Given the description of an element on the screen output the (x, y) to click on. 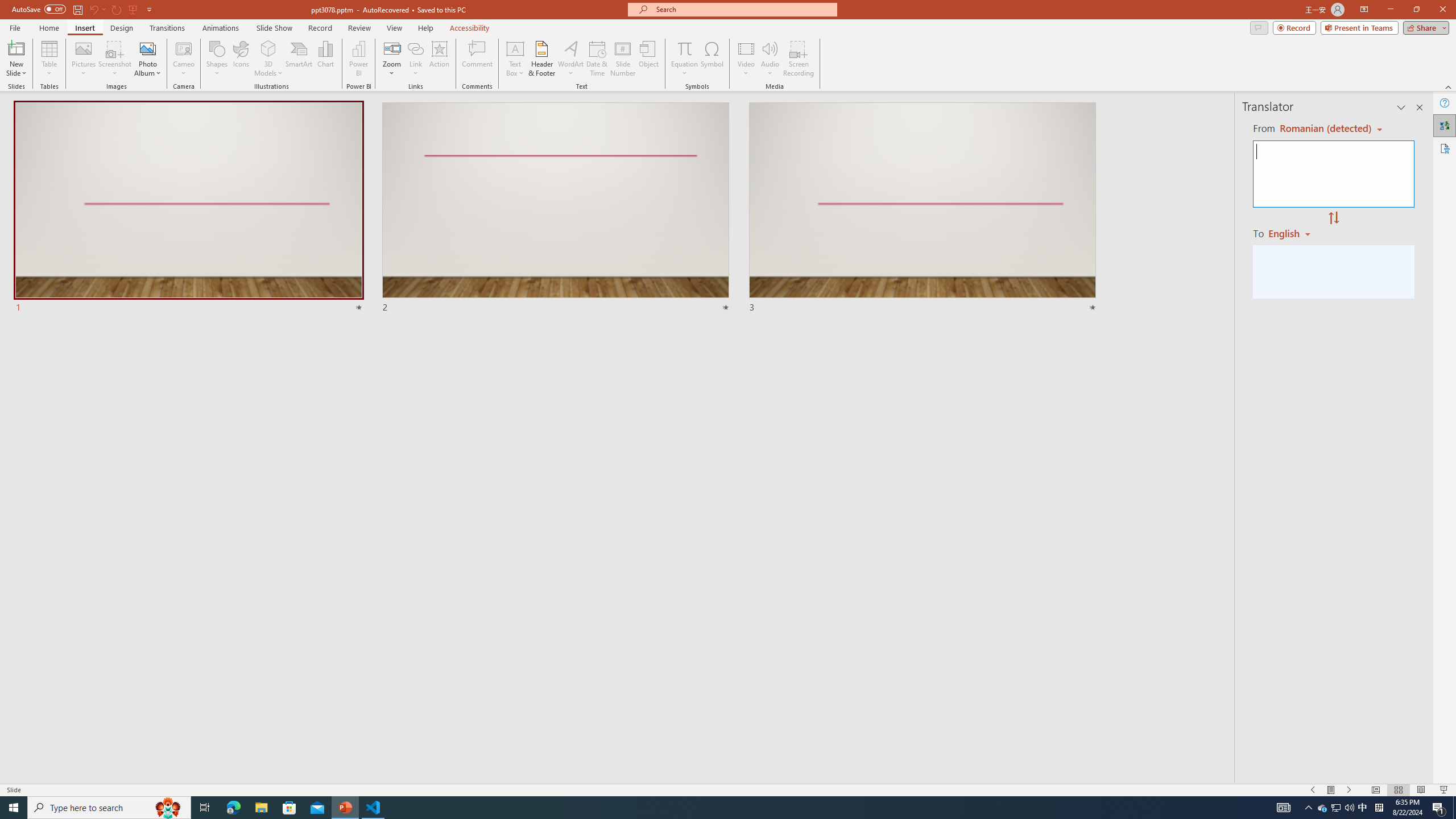
New Slide (16, 48)
Review (359, 28)
Equation (683, 48)
Cameo (183, 58)
Quick Access Toolbar (82, 9)
Design (122, 28)
Header & Footer... (541, 58)
Draw Horizontal Text Box (515, 48)
Power BI (358, 58)
Slide Number (622, 58)
Animations (220, 28)
Menu On (1331, 790)
